Given the description of an element on the screen output the (x, y) to click on. 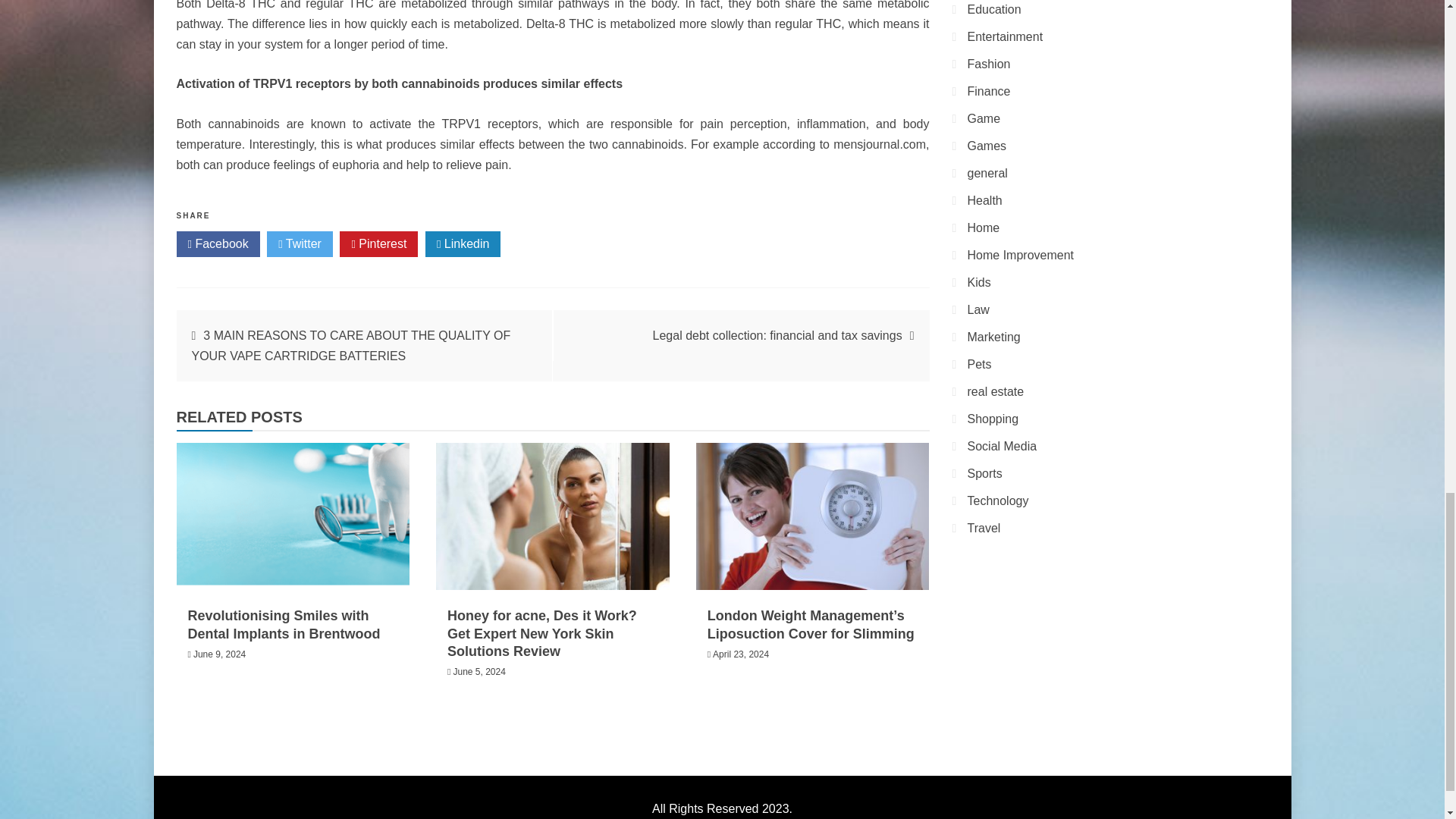
April 23, 2024 (740, 654)
Facebook (217, 243)
Linkedin (462, 243)
Pinterest (378, 243)
June 9, 2024 (219, 654)
Revolutionising Smiles with Dental Implants in Brentwood (283, 624)
June 5, 2024 (478, 671)
Legal debt collection: financial and tax savings (777, 335)
Twitter (299, 243)
